Given the description of an element on the screen output the (x, y) to click on. 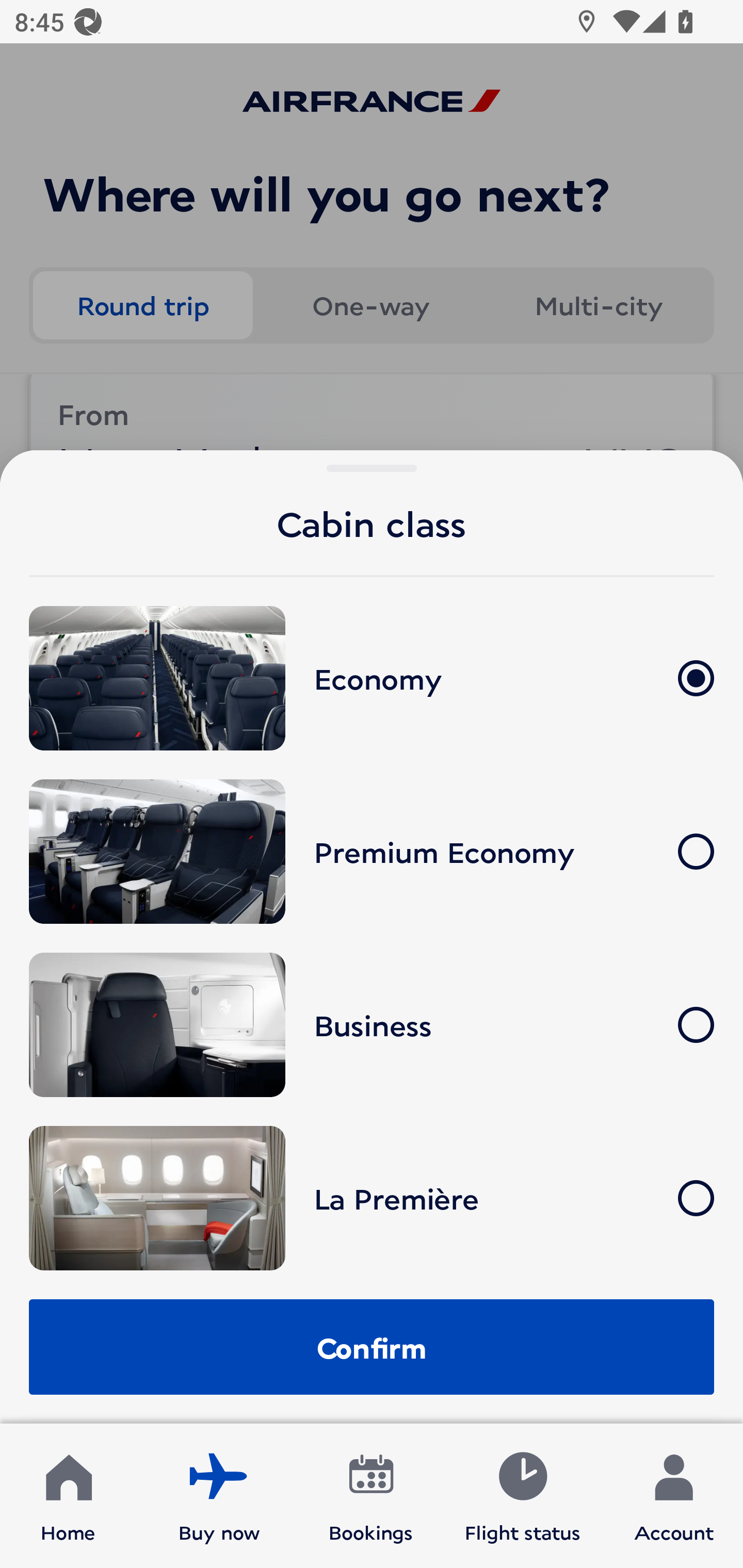
Economy (371, 678)
Premium Economy (371, 851)
Business (371, 1025)
La Première (371, 1197)
Confirm (371, 1346)
Home (68, 1495)
Bookings (370, 1495)
Flight status (522, 1495)
Account (674, 1495)
